Given the description of an element on the screen output the (x, y) to click on. 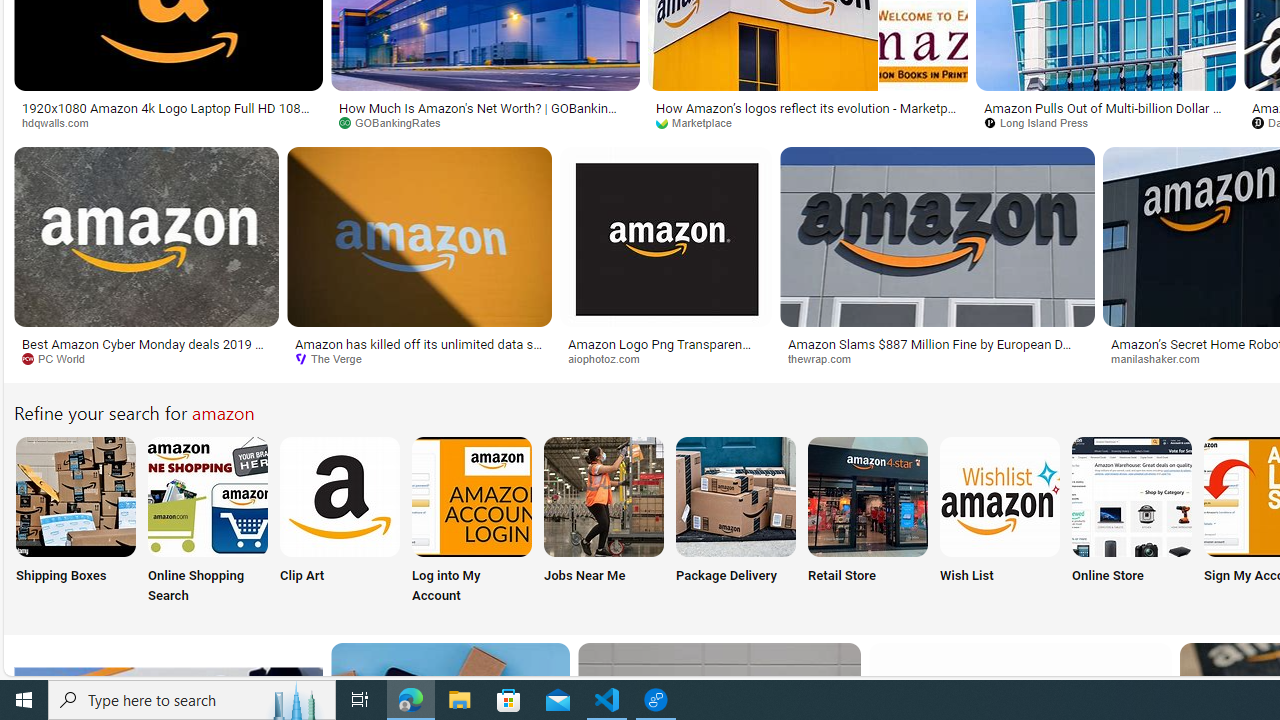
Amazon Clip Art Clip Art (339, 521)
aiophotoz.com (611, 358)
Package Delivery (735, 521)
Amazon Online Store (1131, 496)
hdqwalls.com (167, 123)
Long Island Press (1105, 123)
PC World (59, 358)
Amazon Online Store Online Store (1131, 521)
Amazon Retail Store Retail Store (867, 521)
Amazon Clip Art (339, 496)
thewrap.com (826, 358)
Amazon Package Delivery Package Delivery (735, 521)
hdqwalls.com (61, 121)
